Given the description of an element on the screen output the (x, y) to click on. 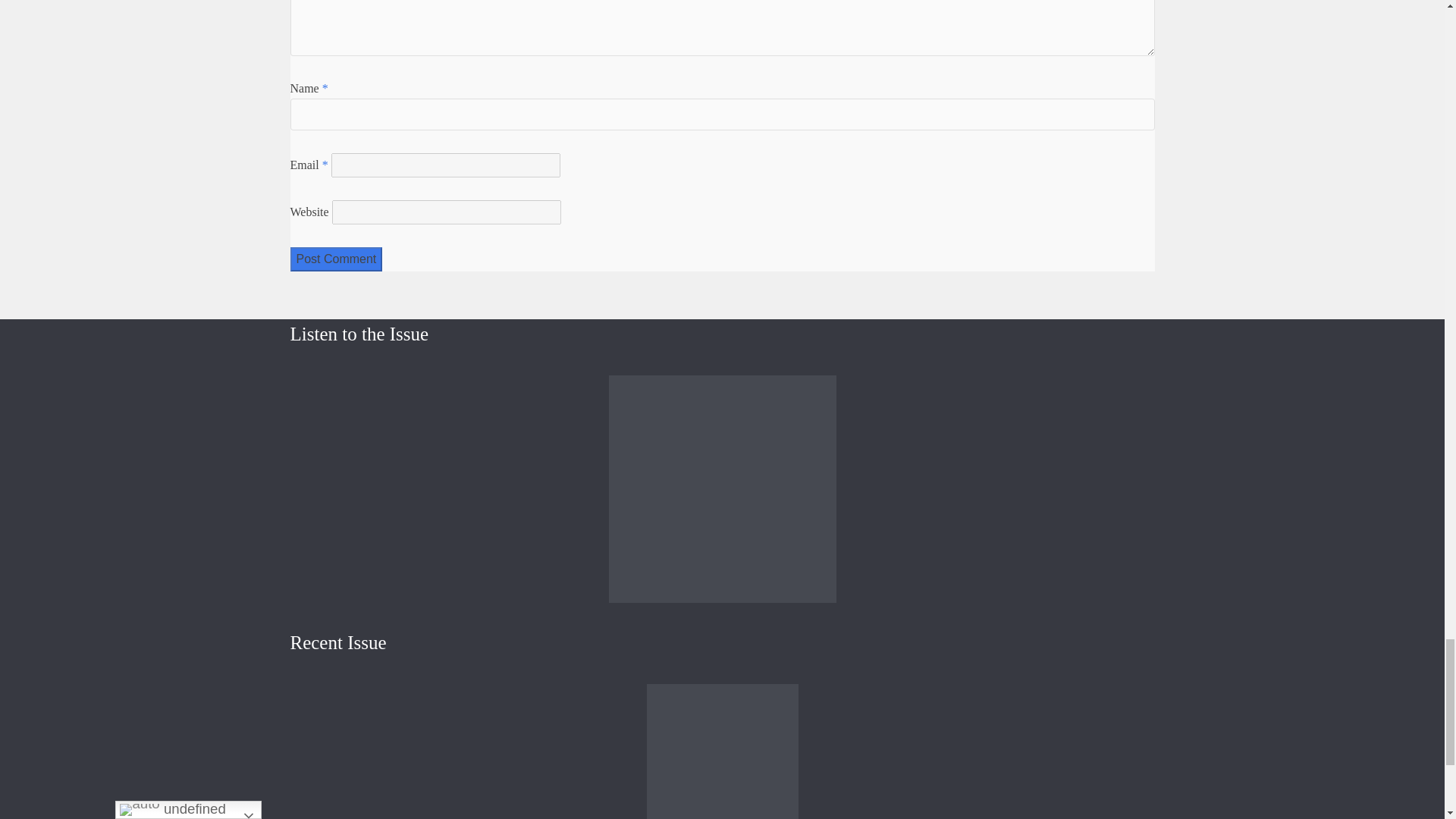
Post Comment (335, 259)
